Given the description of an element on the screen output the (x, y) to click on. 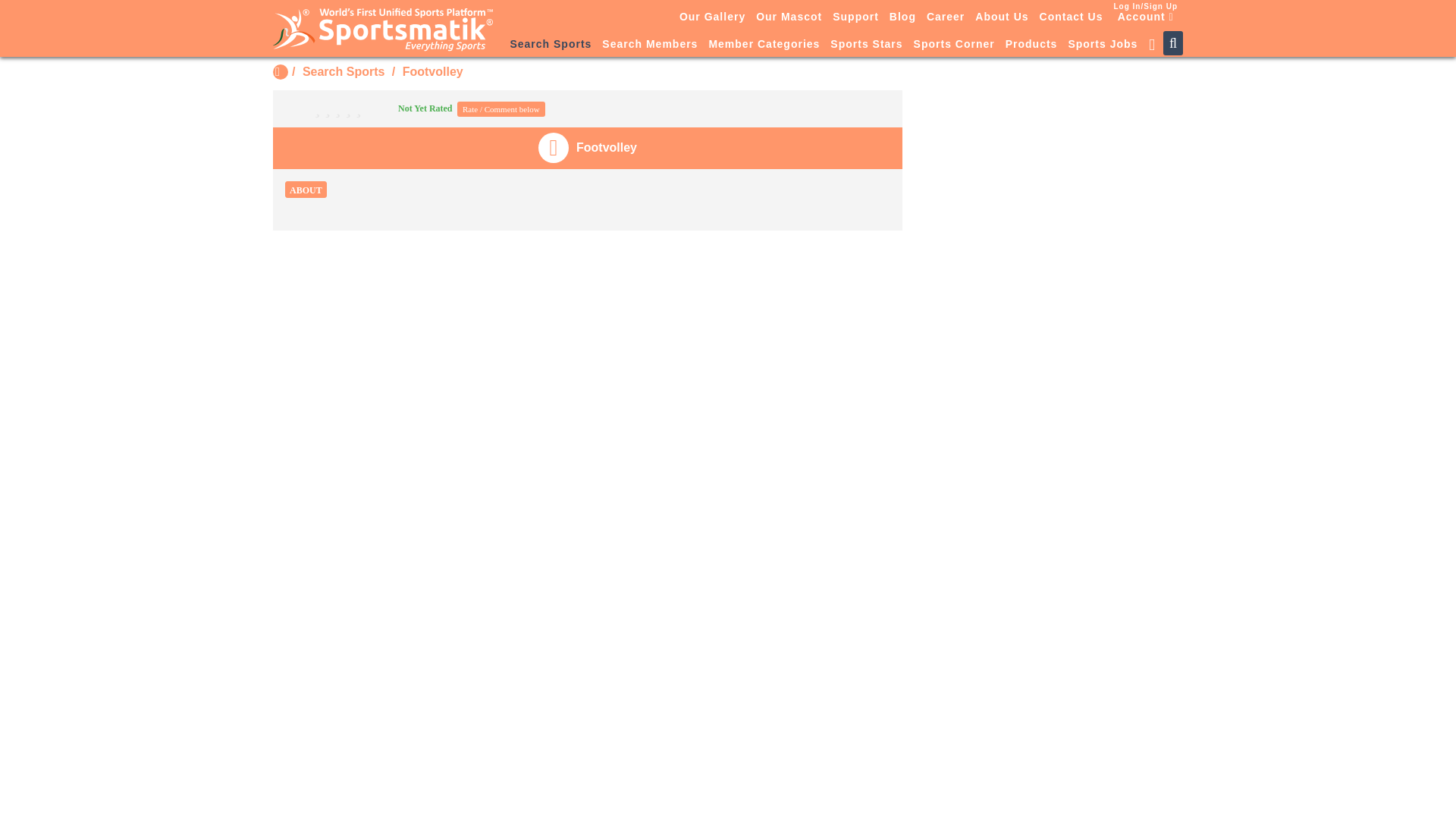
Not Yet Rated (370, 108)
Sports Corner (954, 44)
About Us (1001, 15)
Contact Us (1070, 15)
Products (1031, 44)
Search Sports (343, 71)
Our Mascot (789, 15)
Search Members (649, 44)
ABOUT (305, 189)
Support (855, 15)
Sports Jobs (1102, 44)
Member Categories (764, 44)
Sports Stars (866, 44)
Career (945, 15)
Blog (902, 15)
